Given the description of an element on the screen output the (x, y) to click on. 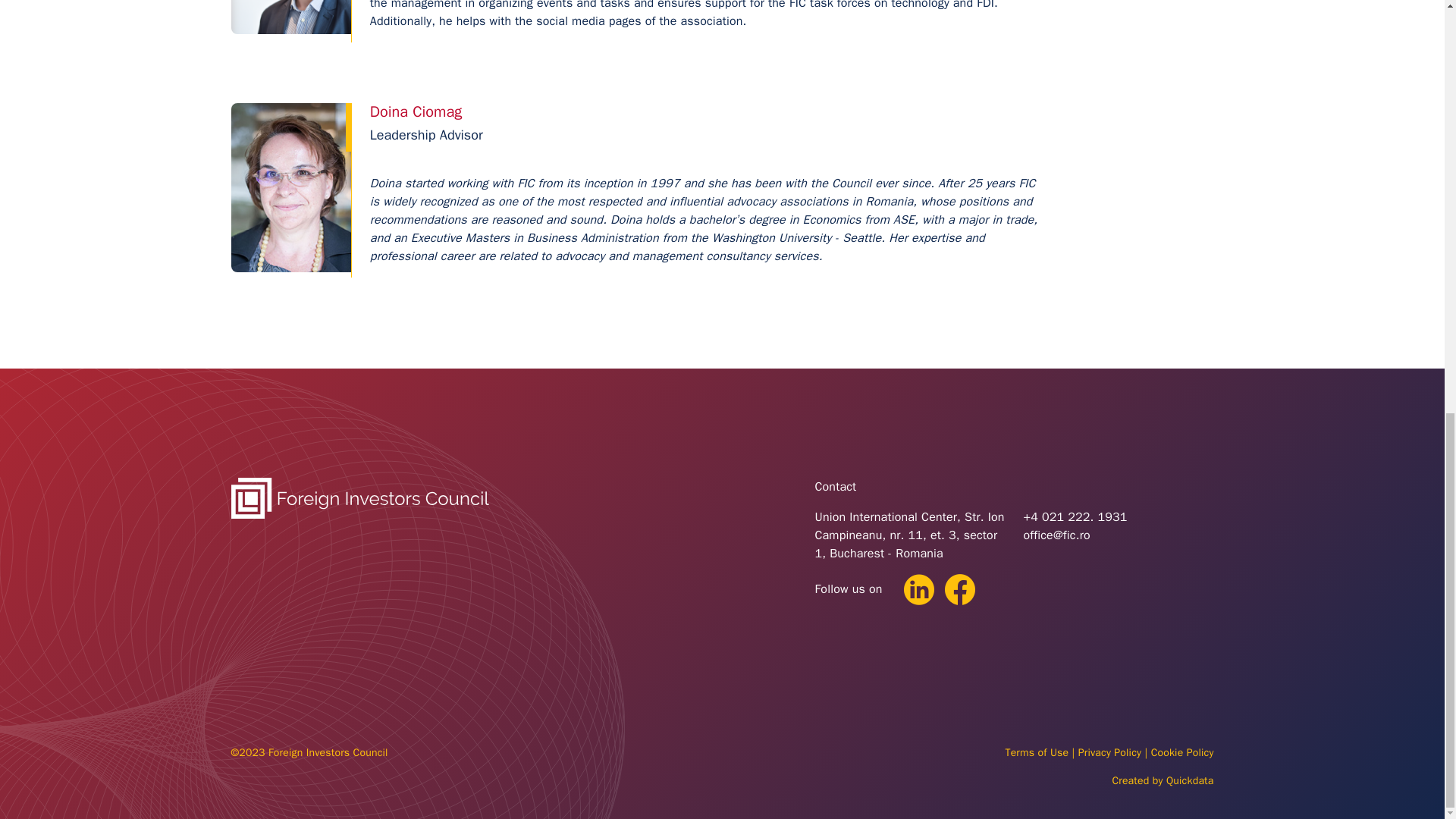
Terms of Use (1036, 752)
Quickdata (1190, 780)
Cookie Policy (1182, 752)
Privacy Policy (1109, 752)
Quickdata (1190, 780)
